Given the description of an element on the screen output the (x, y) to click on. 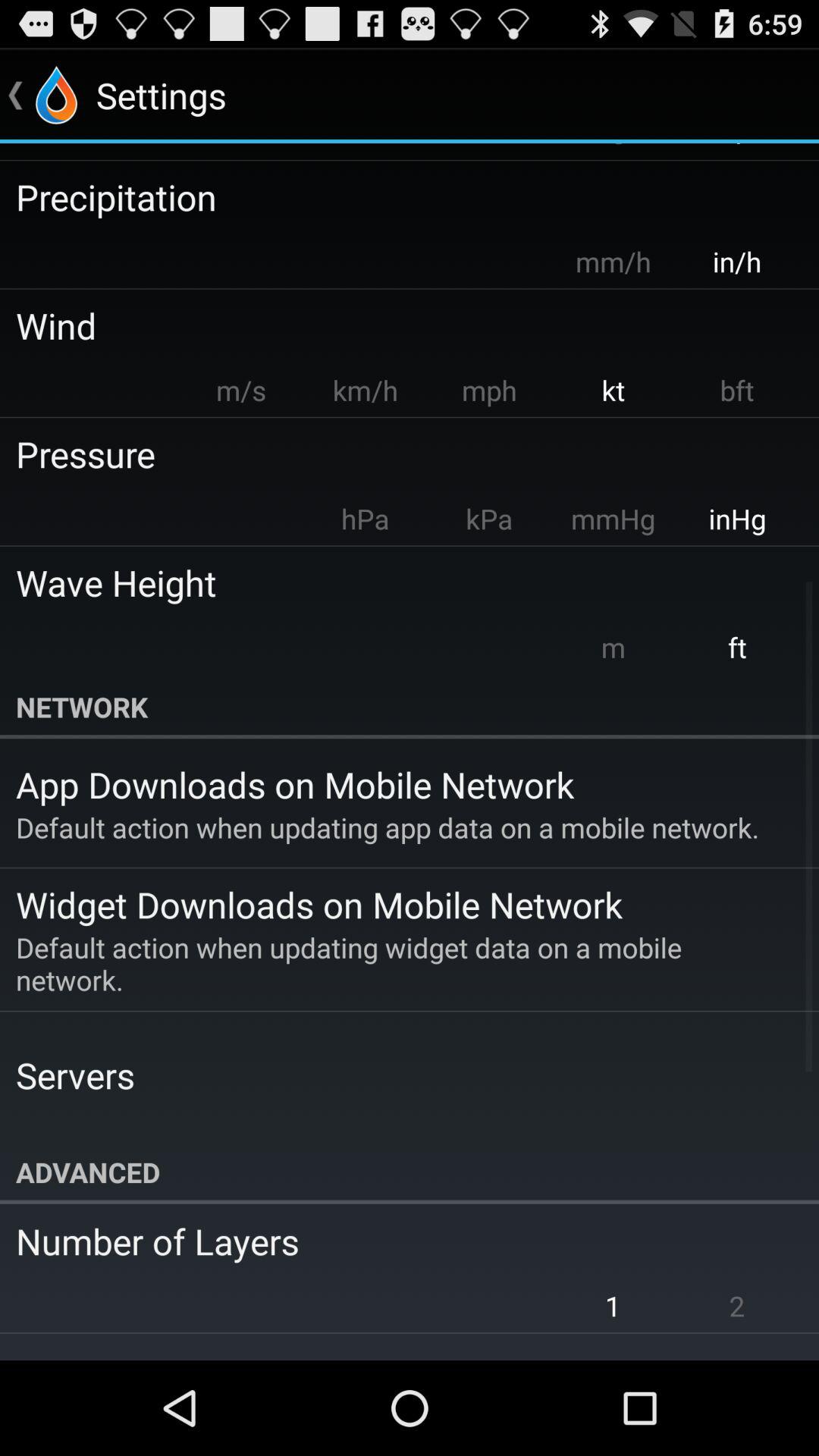
open app to the right of the m (737, 646)
